Given the description of an element on the screen output the (x, y) to click on. 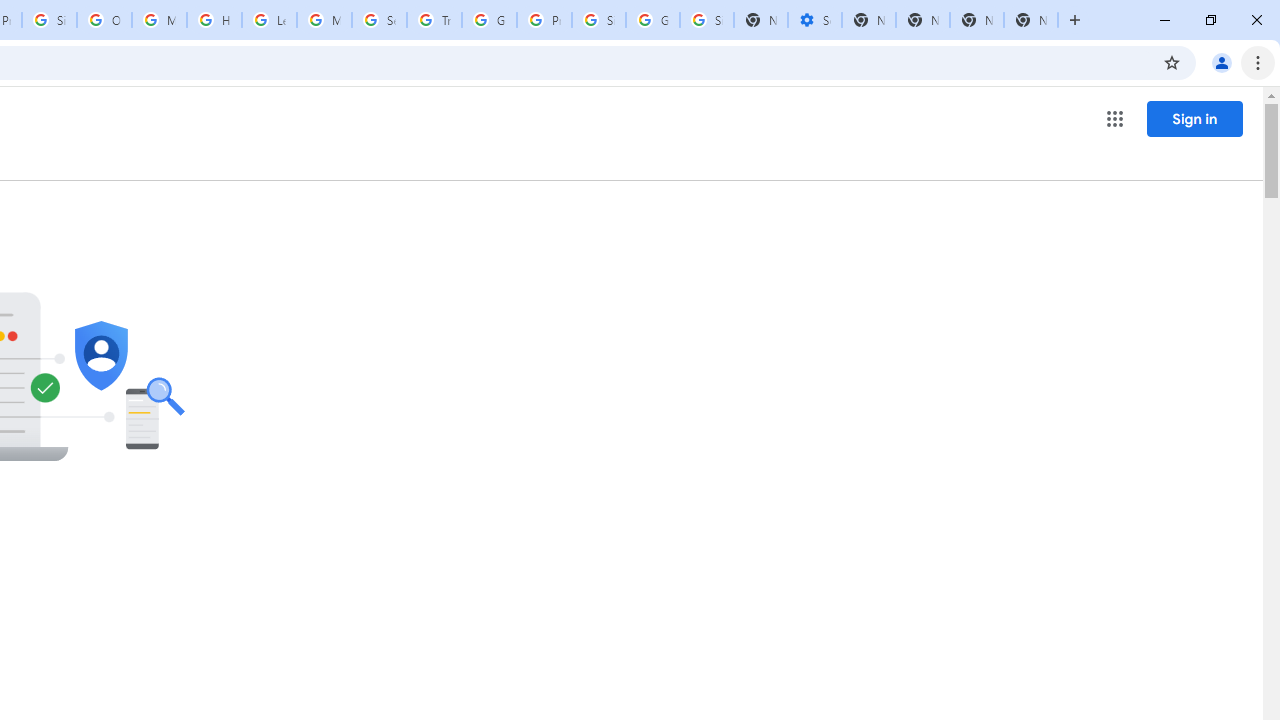
Sign in - Google Accounts (598, 20)
Settings - Performance (815, 20)
Sign in - Google Accounts (48, 20)
